Given the description of an element on the screen output the (x, y) to click on. 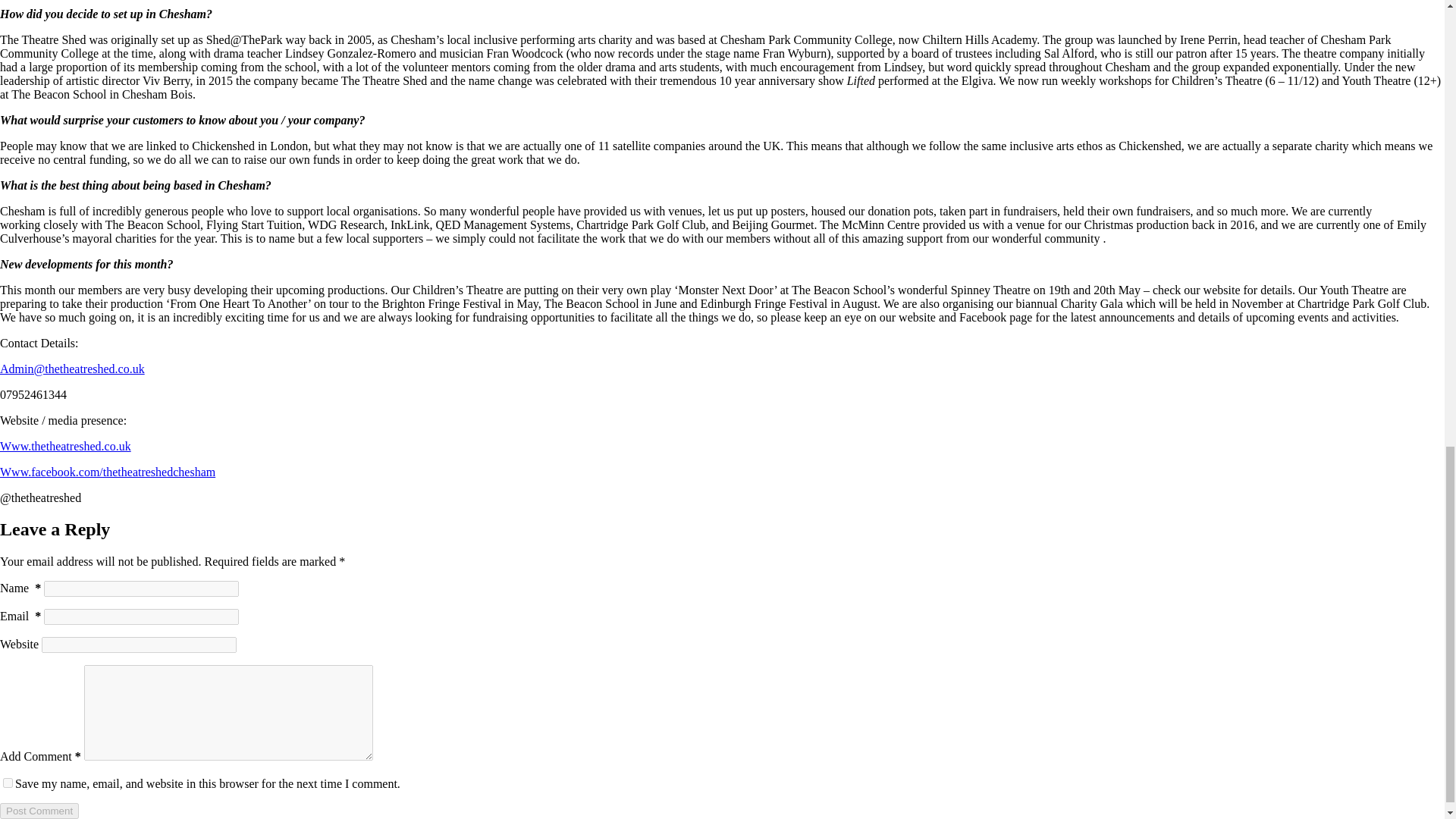
yes (7, 782)
